Given the description of an element on the screen output the (x, y) to click on. 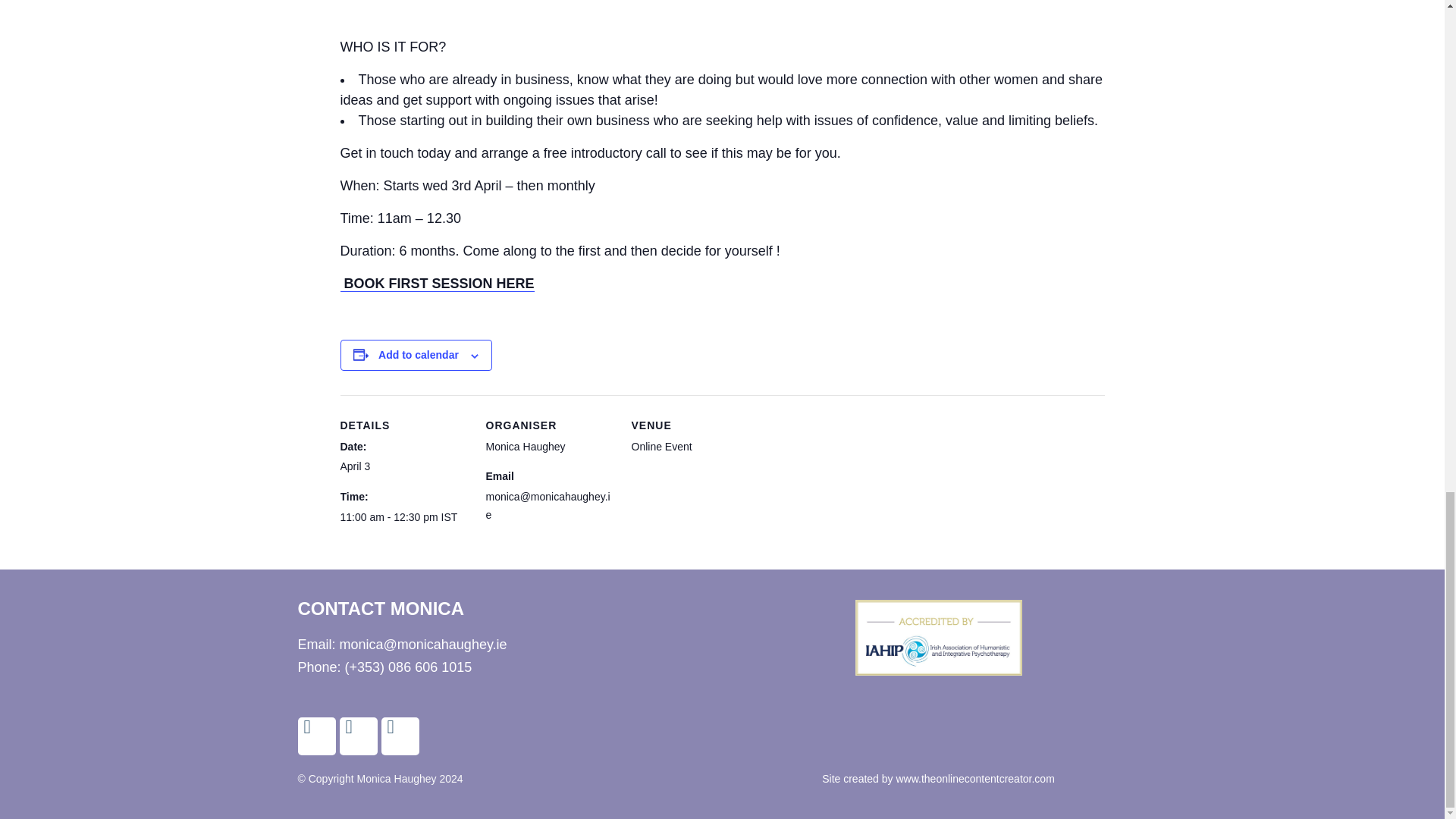
Add to calendar (418, 354)
2024-04-03 (354, 466)
 BOOK FIRST SESSION HERE (436, 283)
2024-04-03 (403, 517)
www.theonlinecontentcreator.com (974, 778)
Accredited By IAHIP Logo (939, 637)
